Given the description of an element on the screen output the (x, y) to click on. 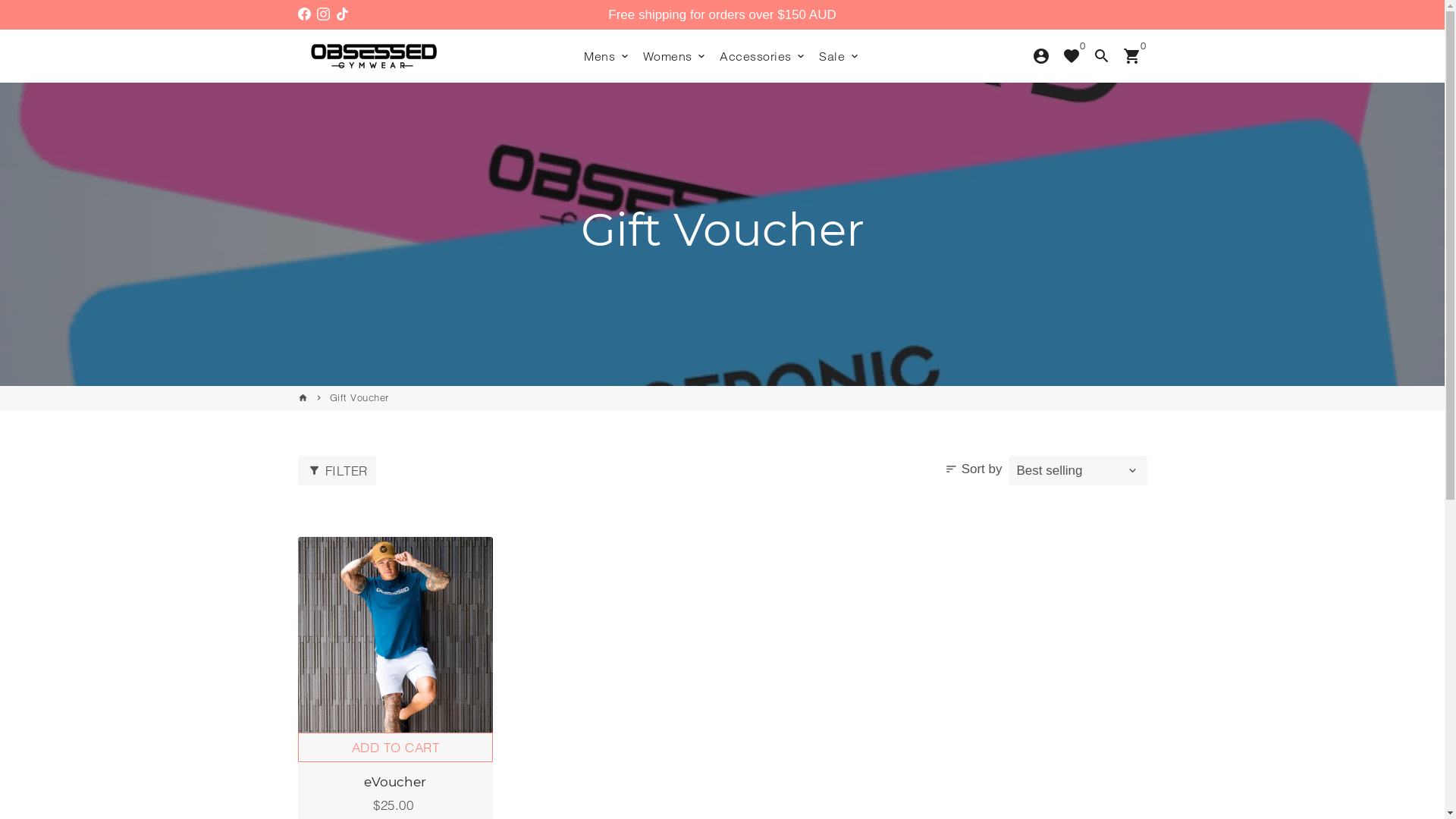
home Element type: text (302, 397)
Obsessed Gymwear on Tiktok Element type: hover (341, 14)
Womens keyboard_arrow_down Element type: text (675, 55)
Sale keyboard_arrow_down Element type: text (839, 55)
shopping_cart
0 Element type: text (1131, 55)
search Element type: text (1100, 55)
Obsessed Gymwear on Facebook Element type: hover (303, 14)
favorite
0 Element type: text (1070, 55)
Gift Voucher Element type: text (358, 397)
filter_altFILTER Element type: text (336, 470)
account_circle Element type: text (1040, 55)
Obsessed Gymwear on Instagram Element type: hover (322, 14)
Mens keyboard_arrow_down Element type: text (607, 55)
Accessories keyboard_arrow_down Element type: text (762, 55)
Skip to content Element type: text (0, 0)
